Given the description of an element on the screen output the (x, y) to click on. 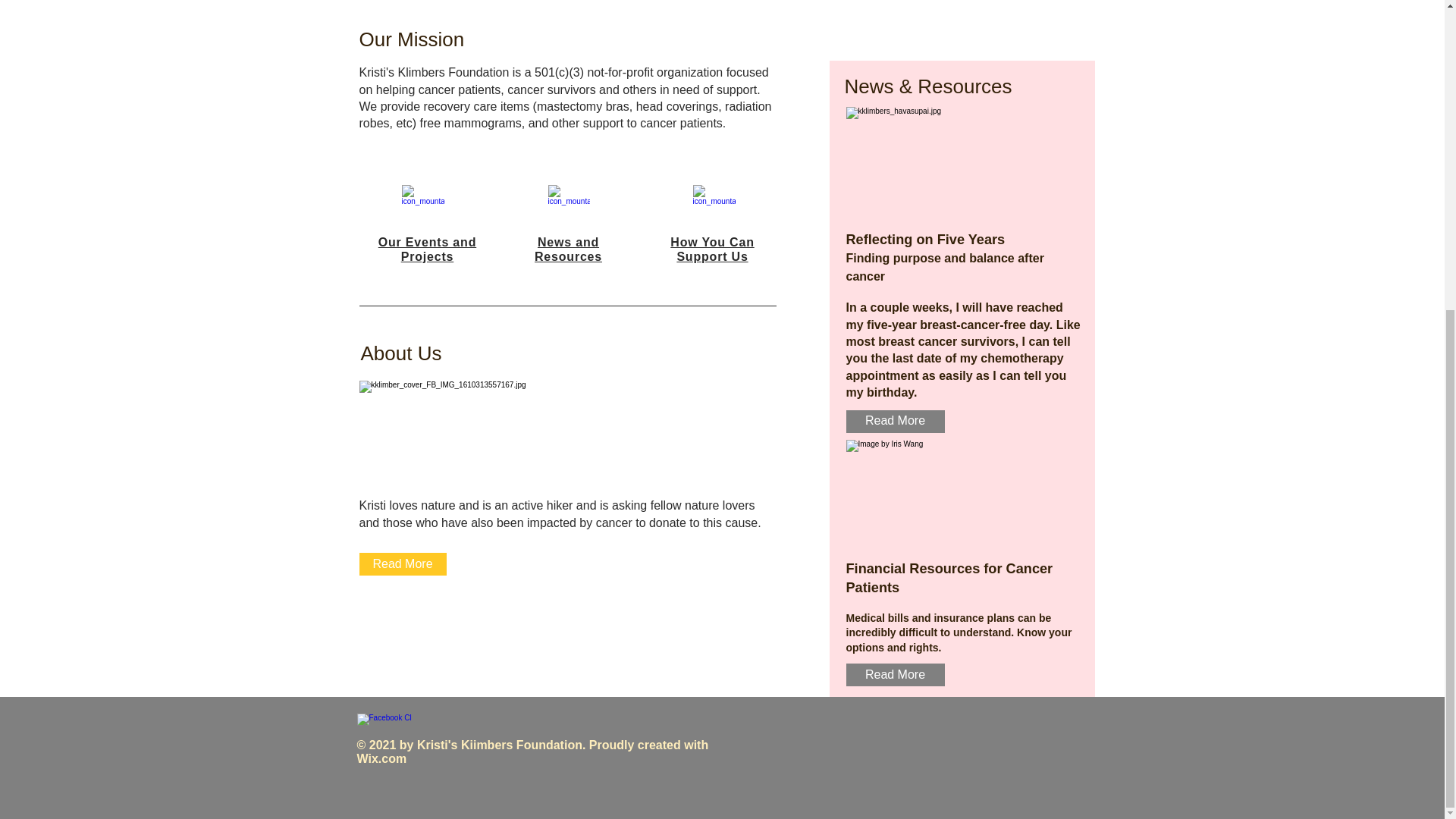
How You Can Support Us (711, 248)
Read More (402, 563)
Wix.com (381, 758)
News and Resources (568, 248)
Read More (894, 674)
Read More (894, 421)
Our Events and Projects (427, 248)
